Given the description of an element on the screen output the (x, y) to click on. 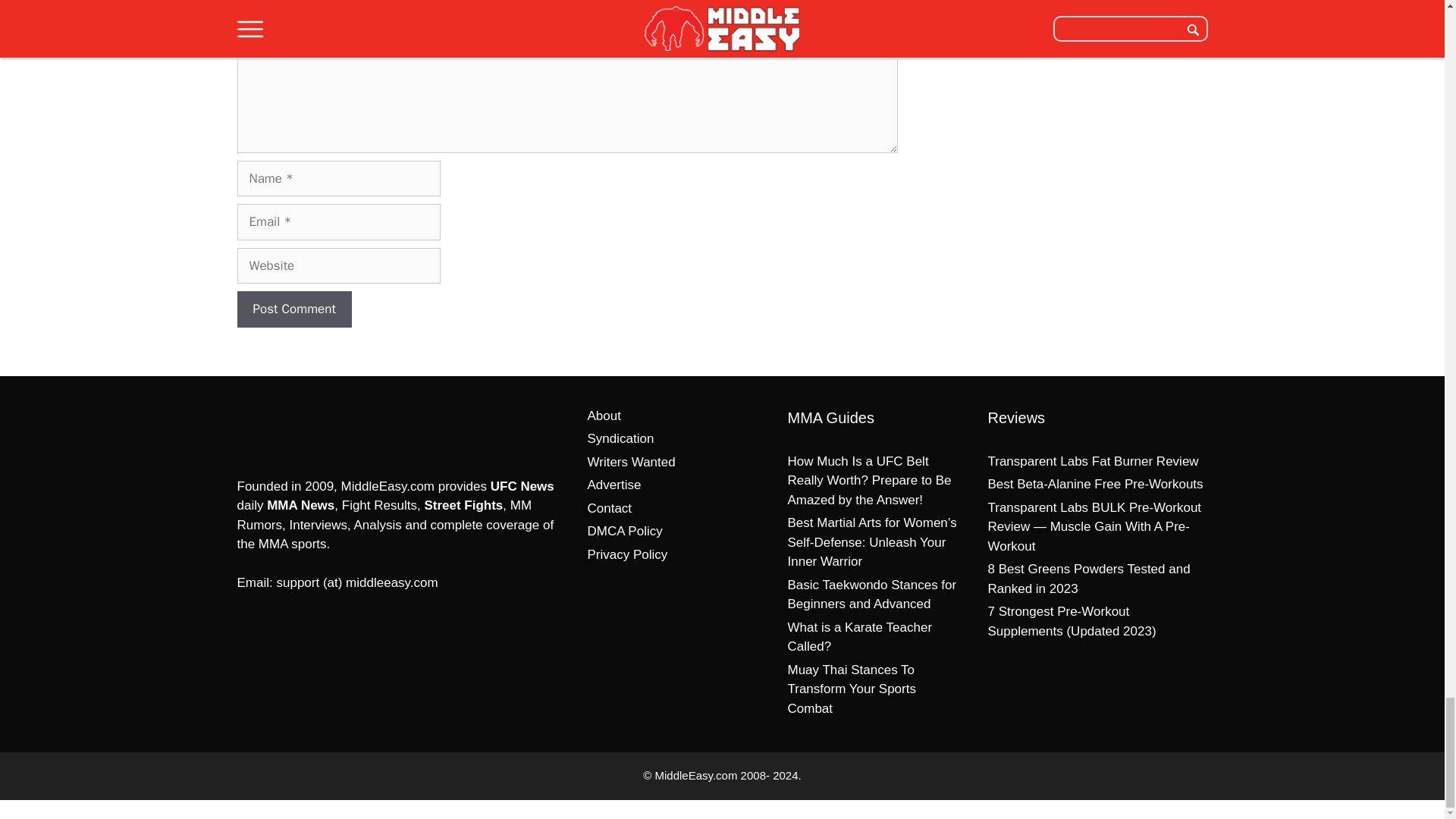
Post Comment (292, 309)
MiddlEeasy: MMA News (314, 429)
